Given the description of an element on the screen output the (x, y) to click on. 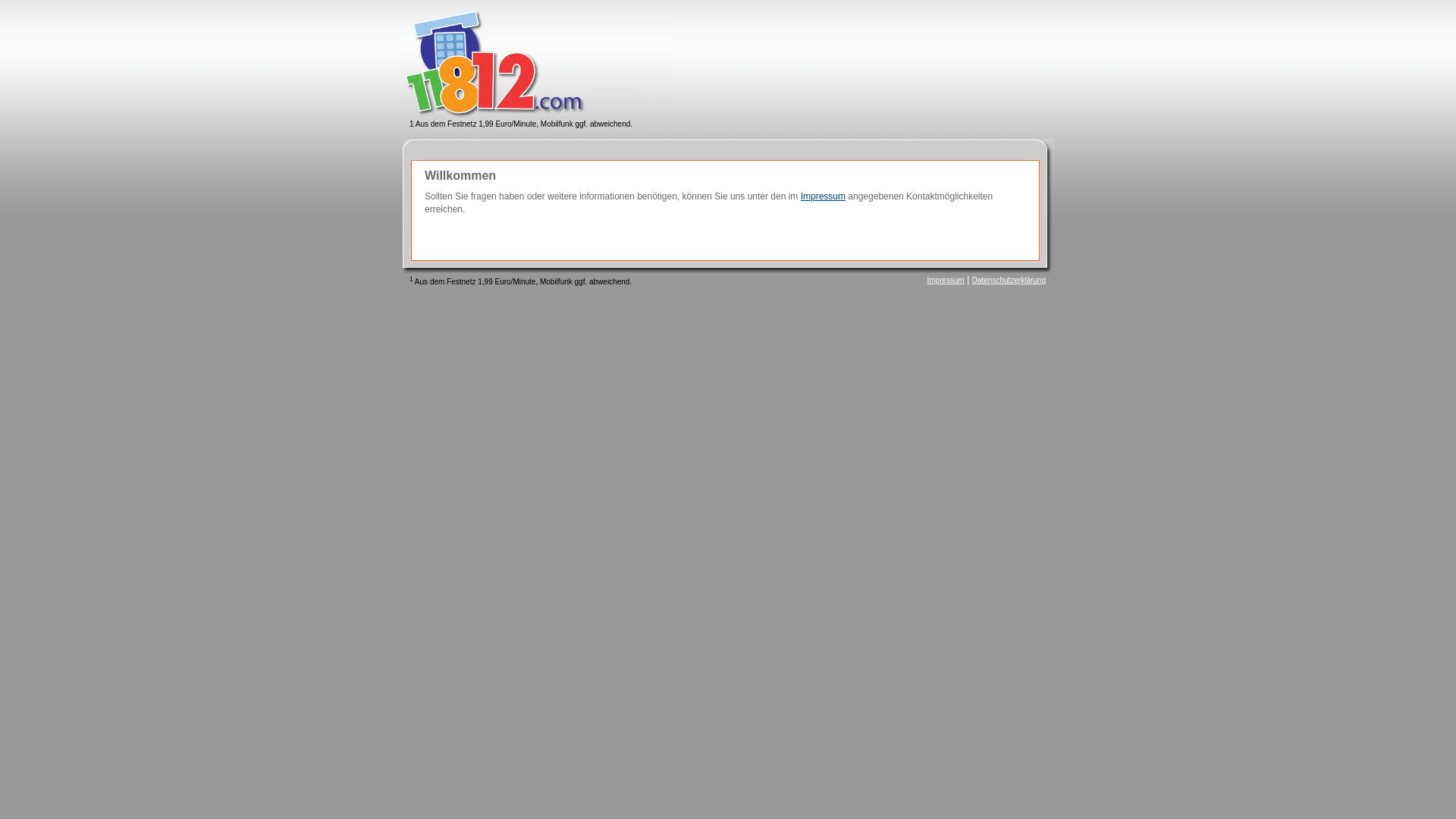
Impressum Element type: text (944, 280)
11812.com Element type: hover (537, 63)
Impressum Element type: text (822, 196)
